Given the description of an element on the screen output the (x, y) to click on. 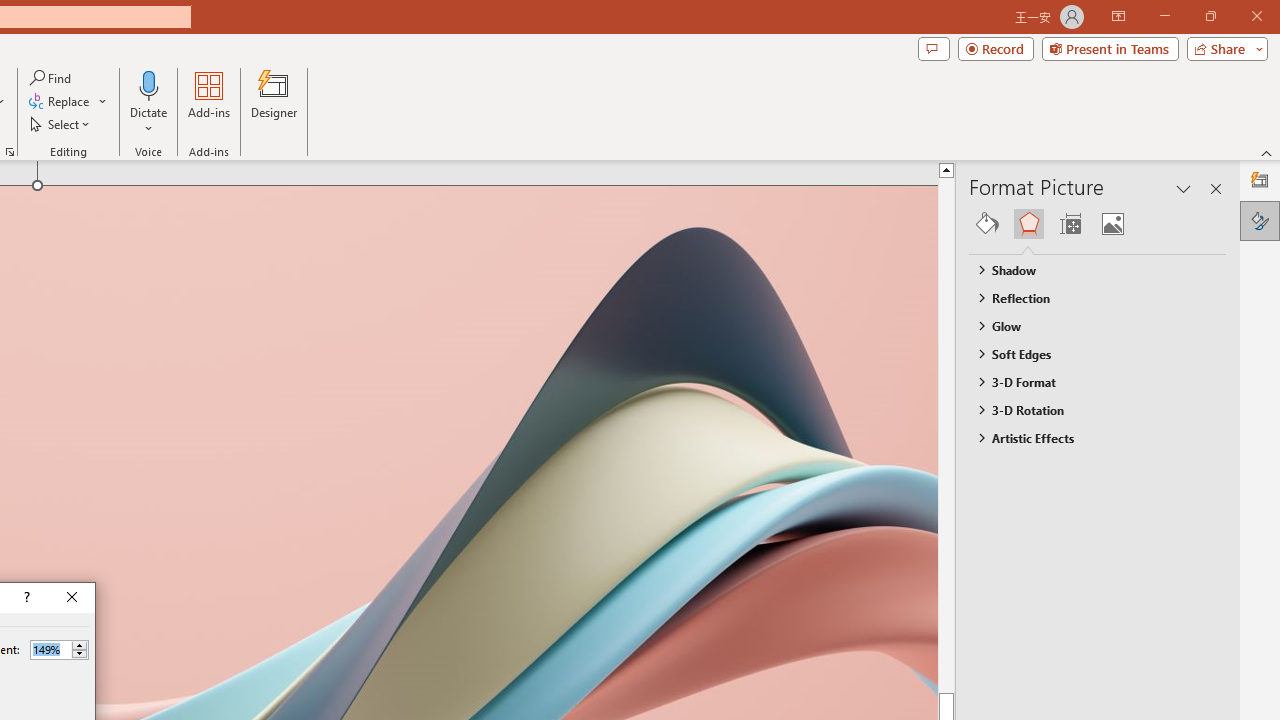
Effects (1028, 223)
Artistic Effects (1088, 438)
Percent (50, 649)
Class: NetUIGalleryContainer (1098, 223)
Glow (1088, 325)
Size & Properties (1070, 223)
Picture (1112, 223)
